Given the description of an element on the screen output the (x, y) to click on. 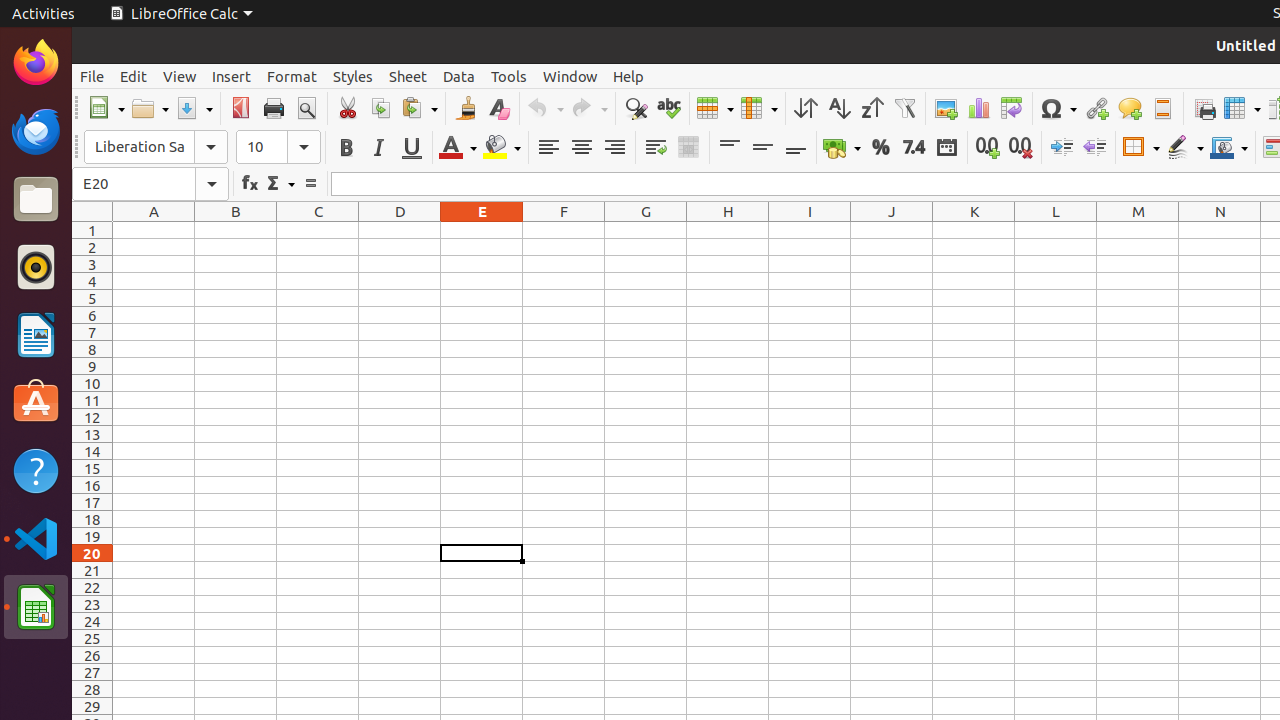
Align Bottom Element type: push-button (795, 147)
Column Element type: push-button (759, 108)
Symbol Element type: push-button (1058, 108)
Borders (Shift to overwrite) Element type: push-button (1141, 147)
Data Element type: menu (459, 76)
